Given the description of an element on the screen output the (x, y) to click on. 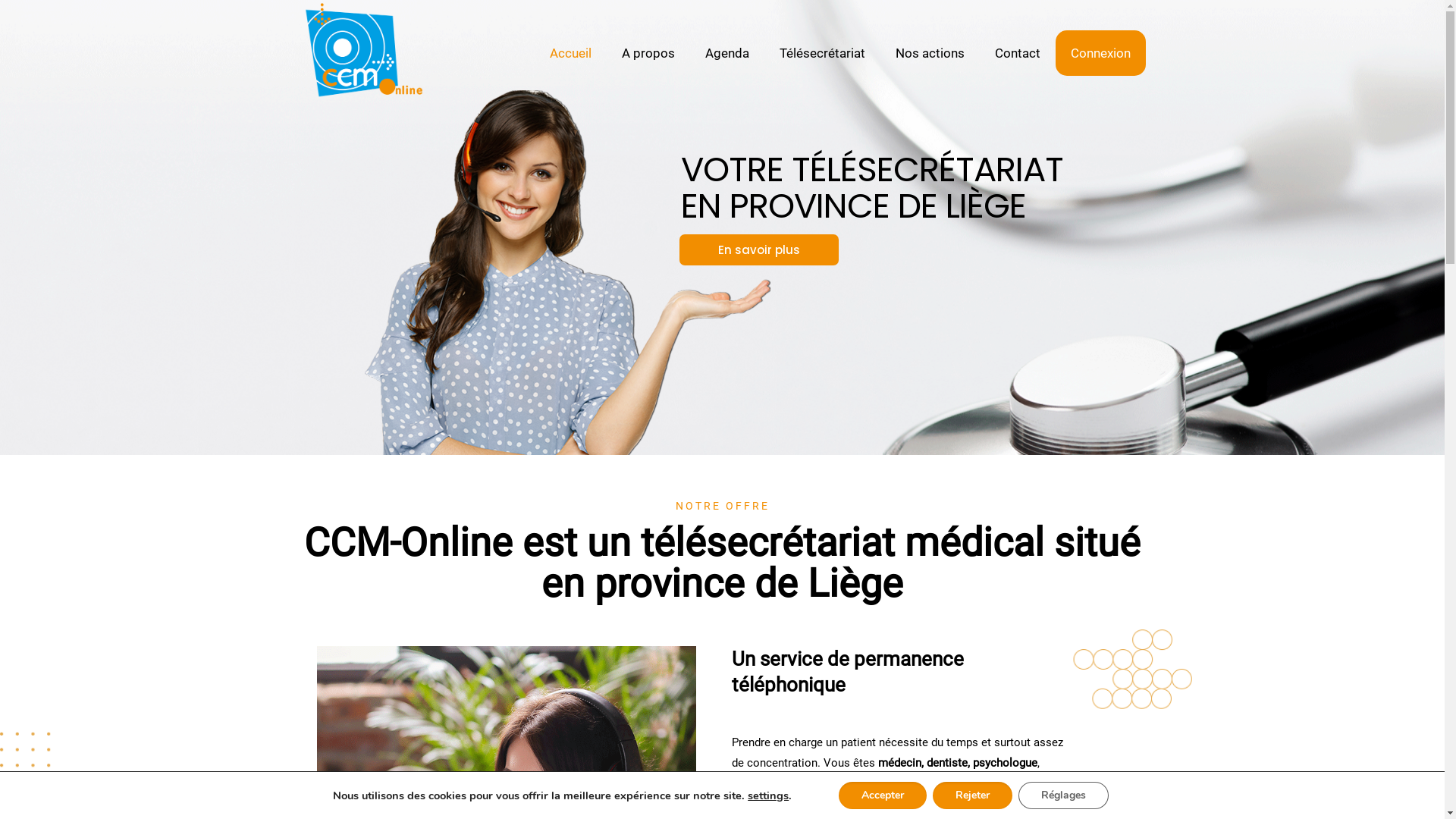
Contact Element type: text (1017, 53)
Nos actions Element type: text (929, 53)
Accueil Element type: text (569, 53)
A propos Element type: text (648, 53)
CCM-Online Element type: hover (362, 53)
Rejeter Element type: text (972, 795)
Accepter Element type: text (882, 795)
Connexion Element type: text (1100, 53)
Agenda Element type: text (727, 53)
